Given the description of an element on the screen output the (x, y) to click on. 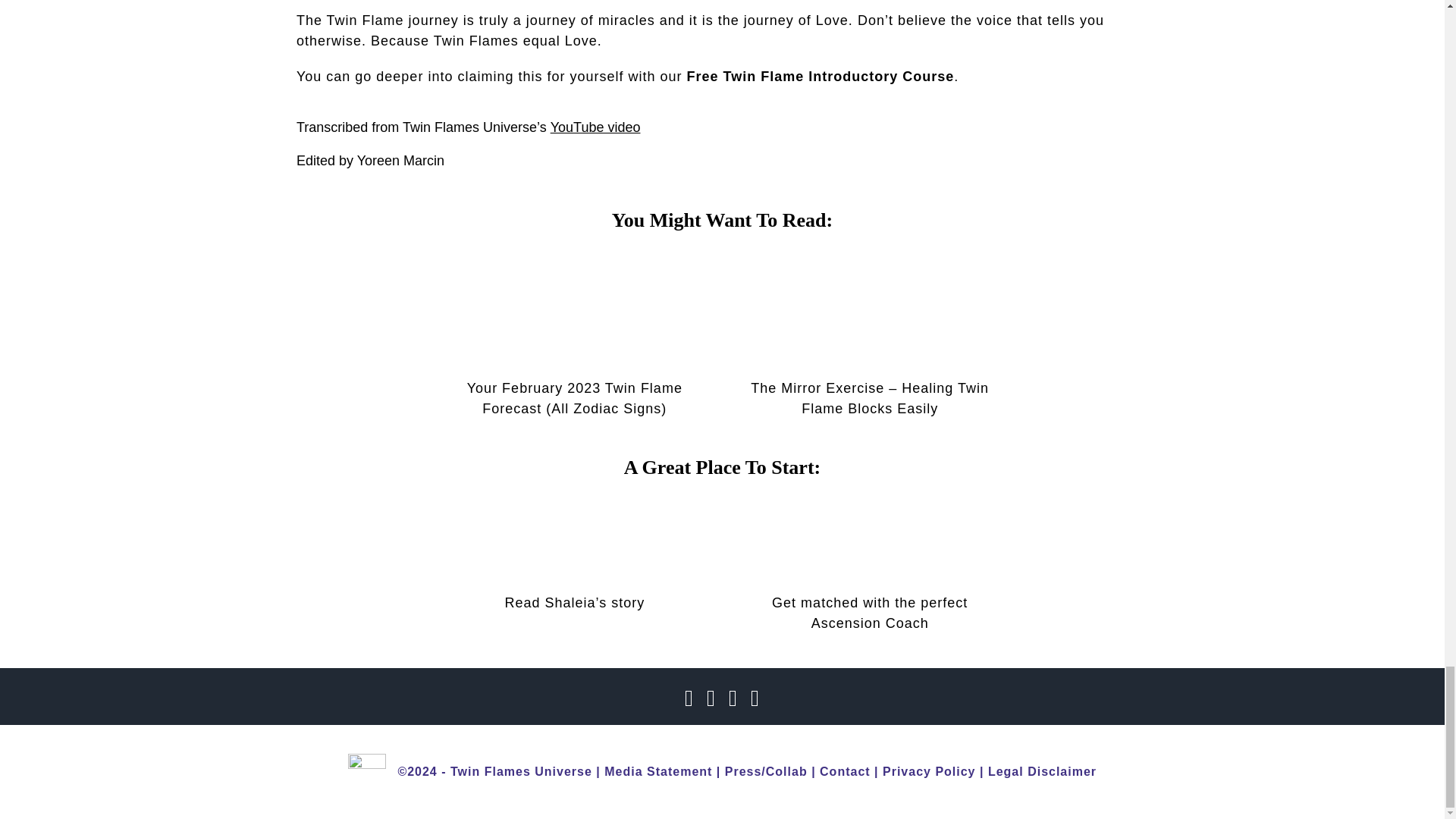
Legal Disclaimer (1042, 771)
Free Twin Flame Introductory Course (821, 76)
Privacy Policy (928, 771)
Media Statement (657, 771)
YouTube video (595, 127)
Contact (844, 771)
Get matched with the perfect Ascension Coach (869, 612)
Twin Flames Universe (520, 771)
